Given the description of an element on the screen output the (x, y) to click on. 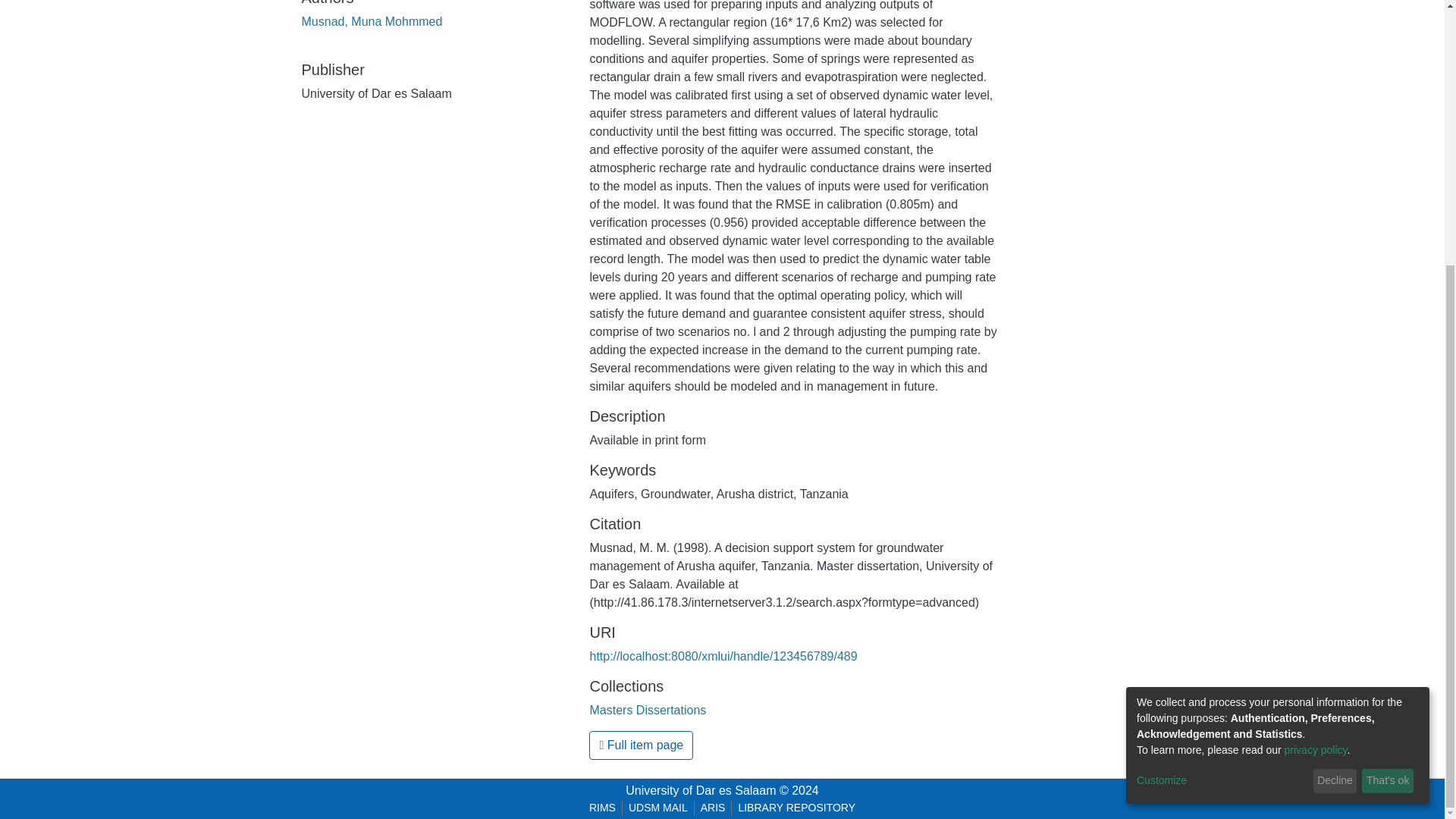
Full item page (641, 745)
That's ok (1387, 396)
Masters Dissertations (647, 709)
Decline (1334, 396)
Customize (1222, 396)
RIMS (602, 807)
Musnad, Muna Mohmmed (371, 21)
ARIS (713, 807)
LIBRARY REPOSITORY (796, 807)
UDSM MAIL (658, 807)
privacy policy (1316, 365)
